Given the description of an element on the screen output the (x, y) to click on. 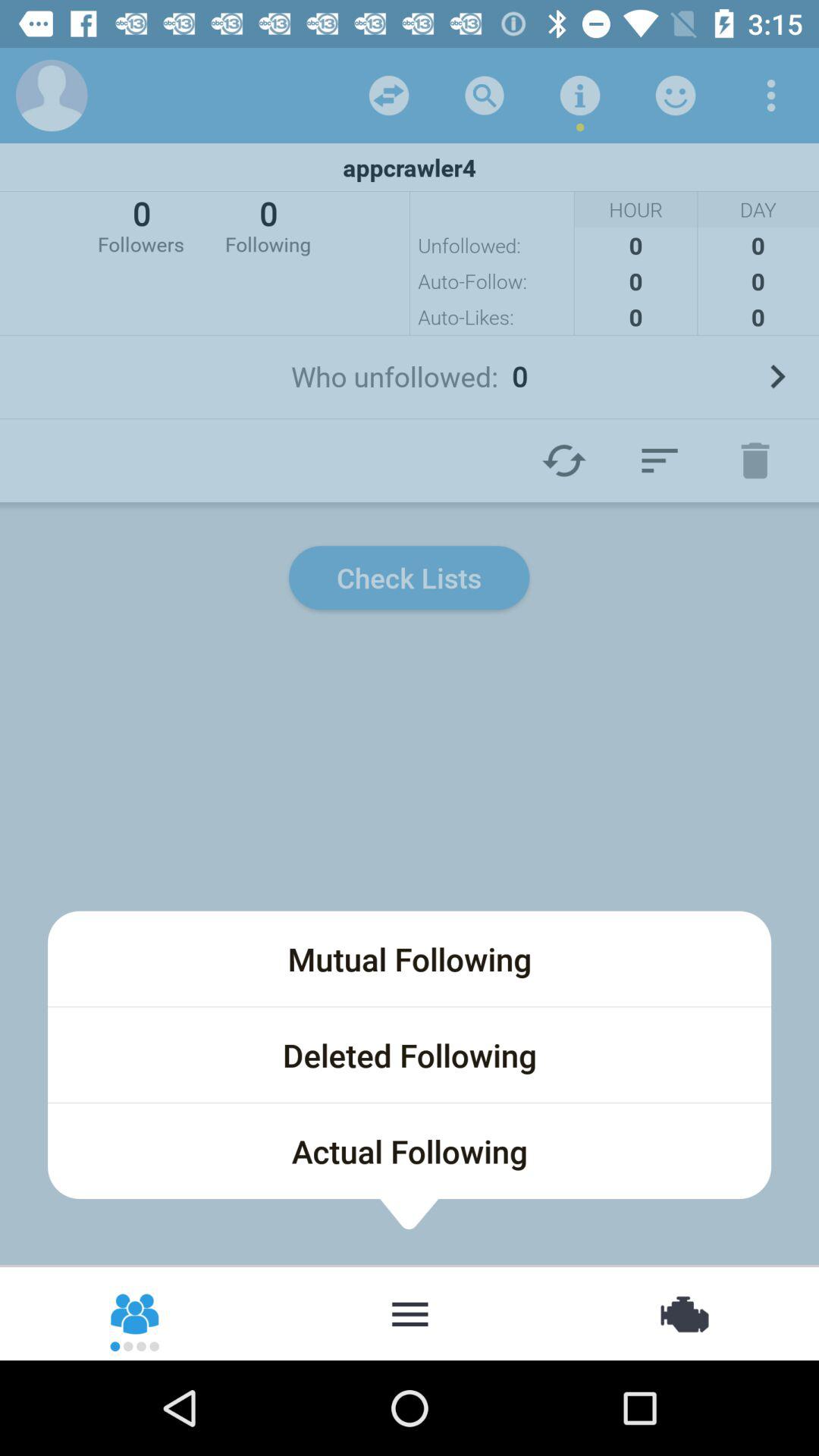
go to profile (51, 95)
